Given the description of an element on the screen output the (x, y) to click on. 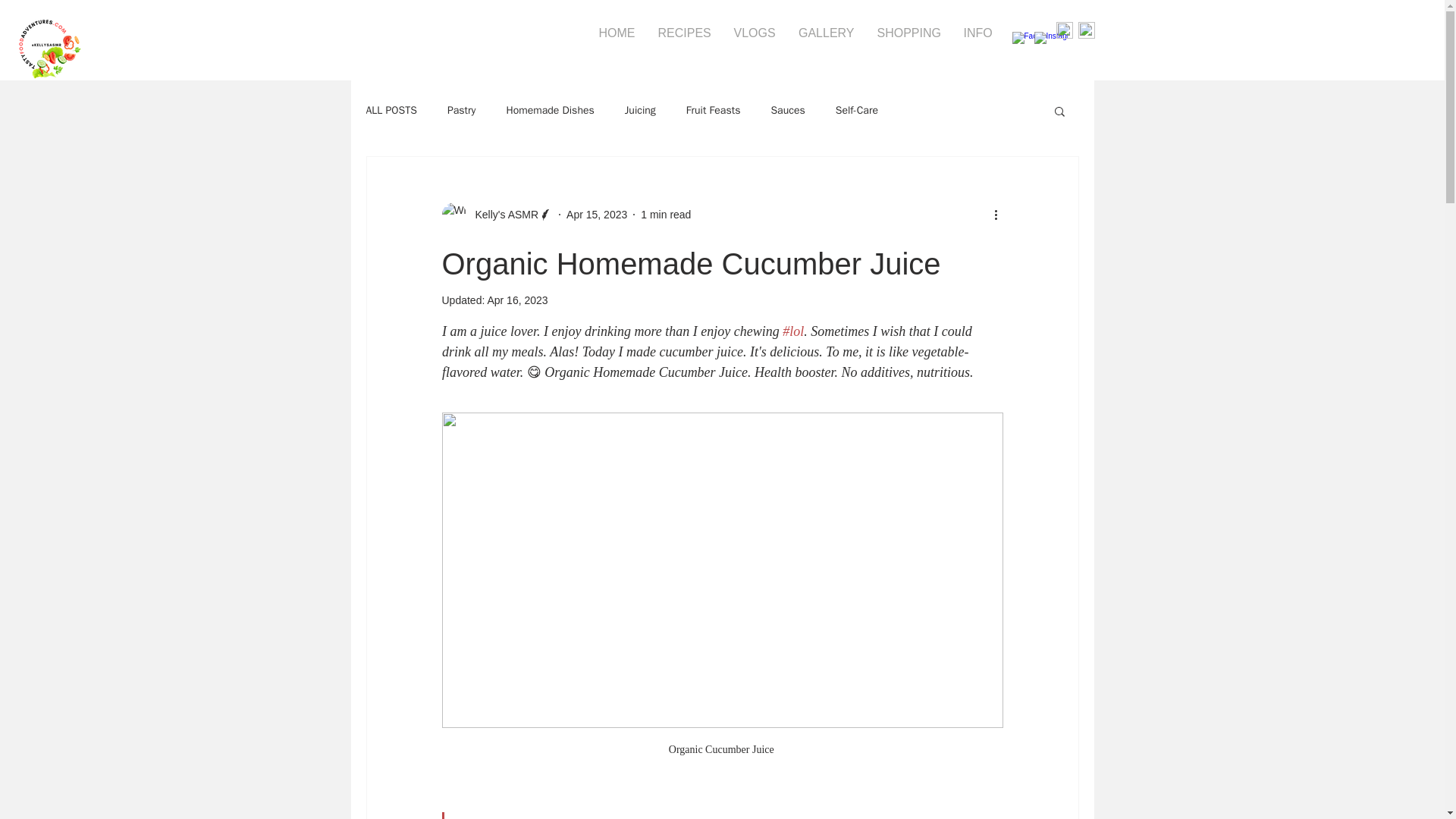
Homemade Dishes (549, 110)
Apr 15, 2023 (596, 214)
Kelly's ASMR (501, 214)
1 min read (665, 214)
Juicing (640, 110)
Self-Care (856, 110)
Pastry (461, 110)
HOME (616, 33)
ALL POSTS (390, 110)
tastyfoodadventures.com.jpg (48, 48)
